Given the description of an element on the screen output the (x, y) to click on. 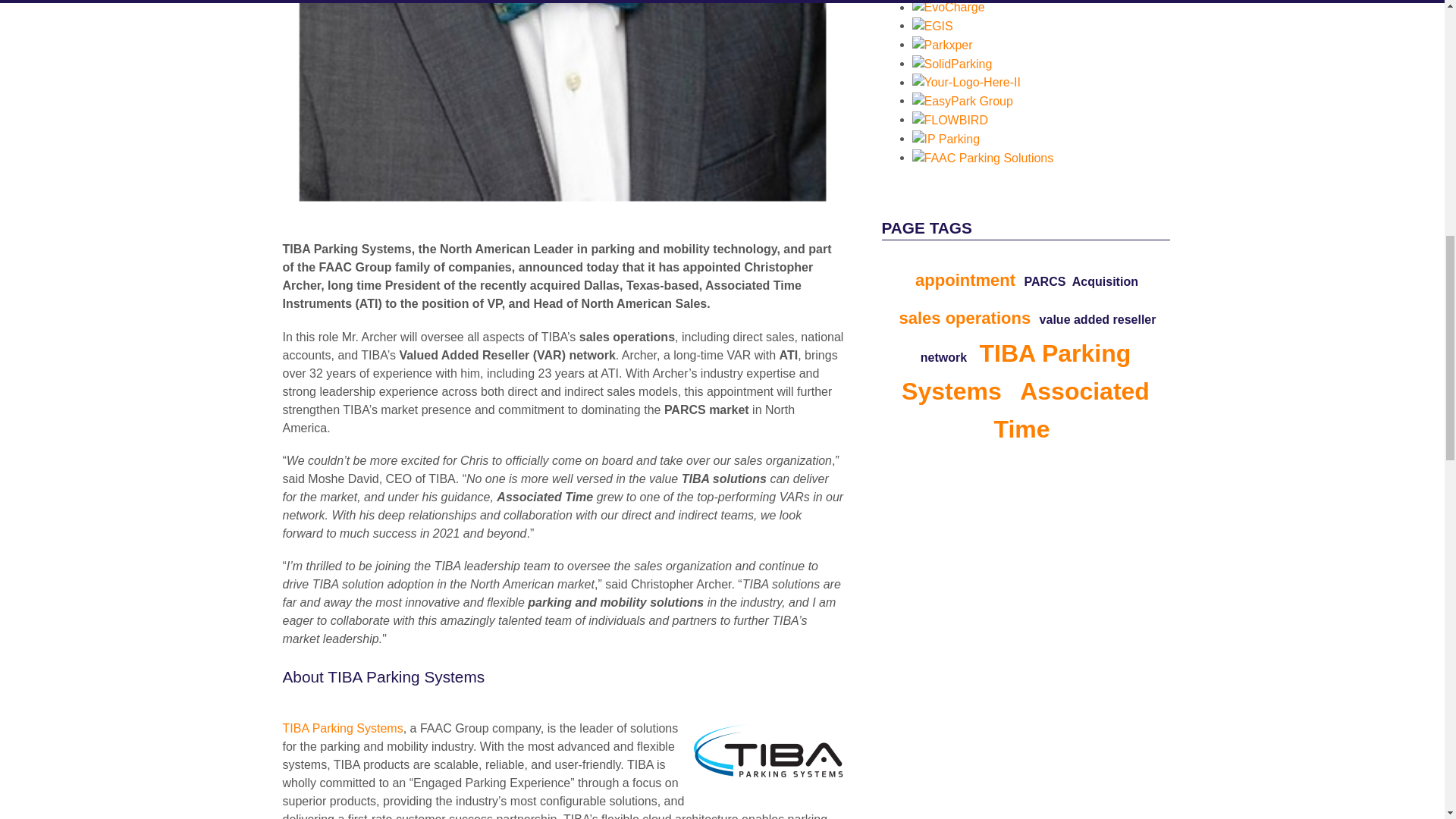
TIBA (763, 750)
TIBA Parking Systems (342, 727)
TIBA Parking Systems (342, 727)
